Given the description of an element on the screen output the (x, y) to click on. 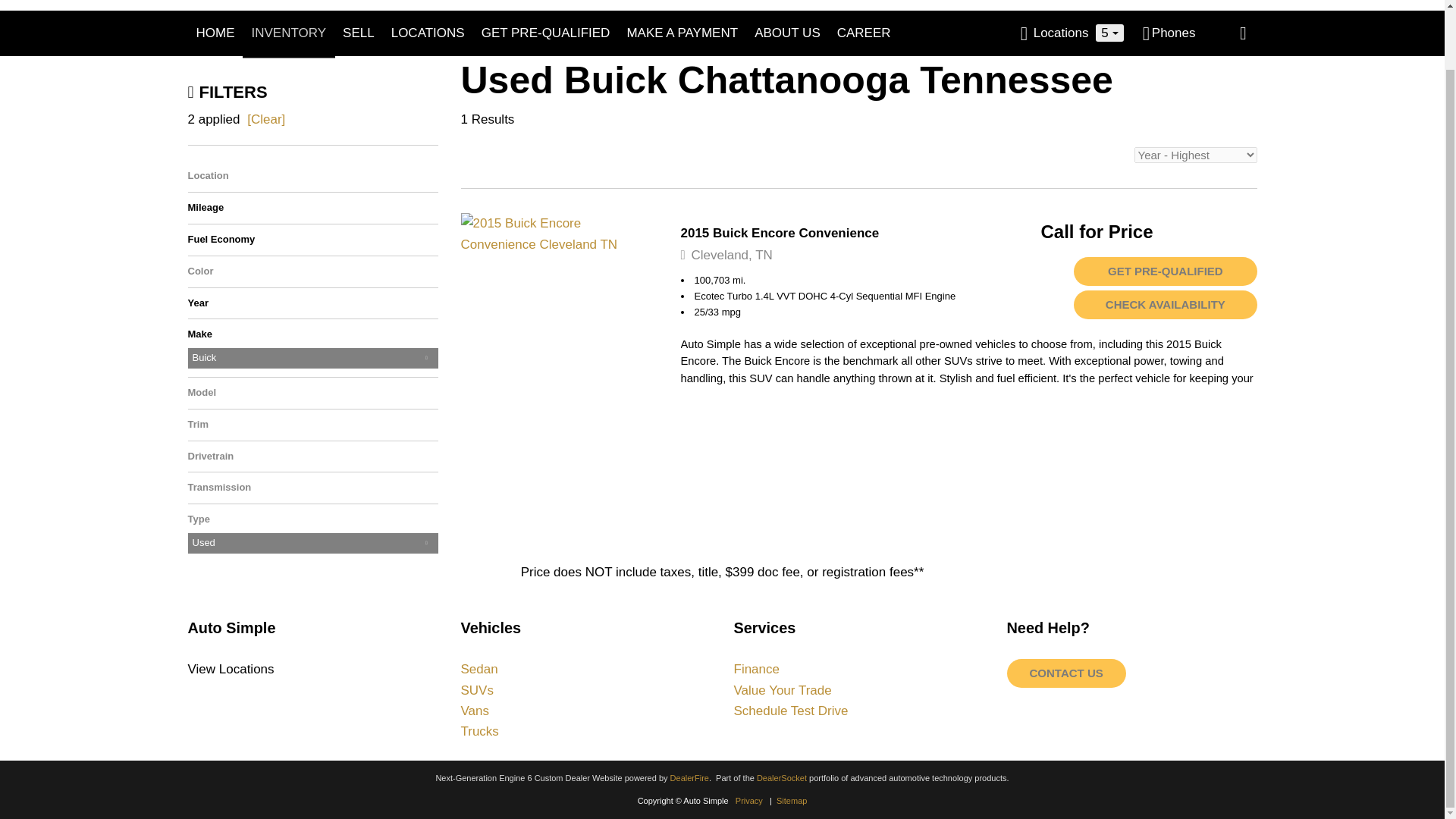
MAKE A PAYMENT (681, 33)
LOCATIONS (427, 33)
SELL (358, 33)
HOME (214, 33)
ABOUT US (787, 33)
2015 Buick Encore Convenience Cleveland TN (559, 232)
INVENTORY (289, 33)
GET PRE-QUALIFIED (545, 33)
